Given the description of an element on the screen output the (x, y) to click on. 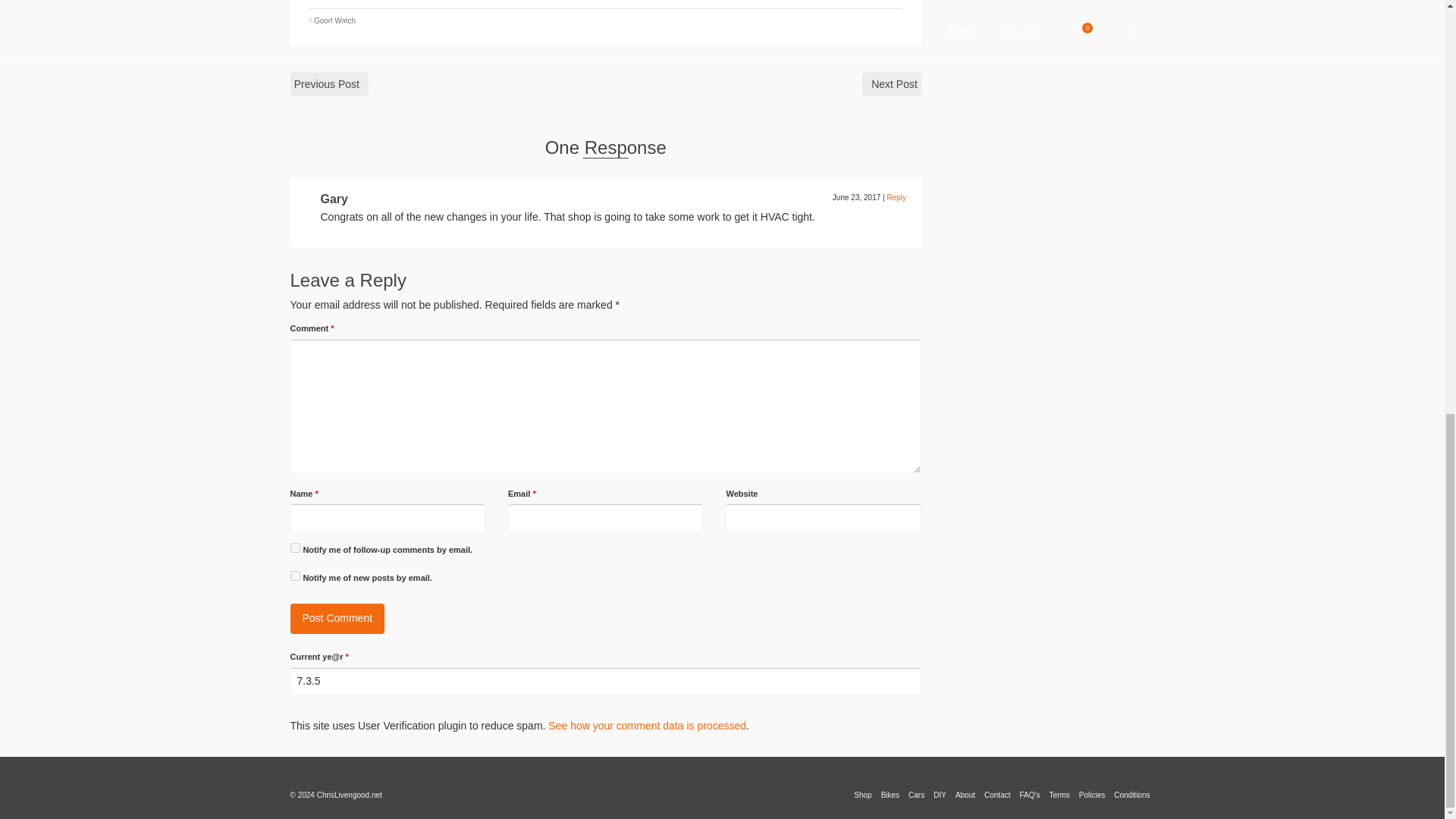
Post Comment (336, 618)
subscribe (294, 575)
7.3.5 (605, 681)
subscribe (294, 547)
